Given the description of an element on the screen output the (x, y) to click on. 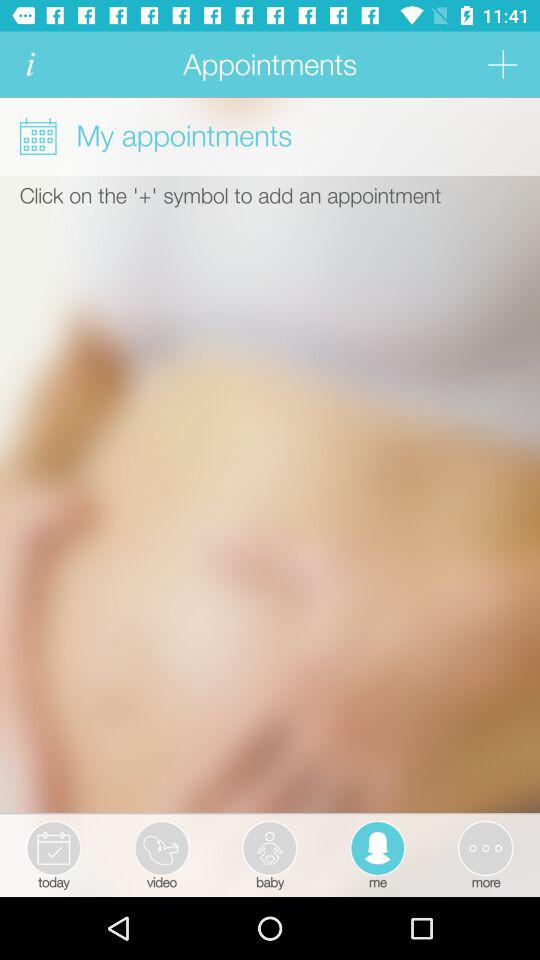
info icon (30, 63)
